Given the description of an element on the screen output the (x, y) to click on. 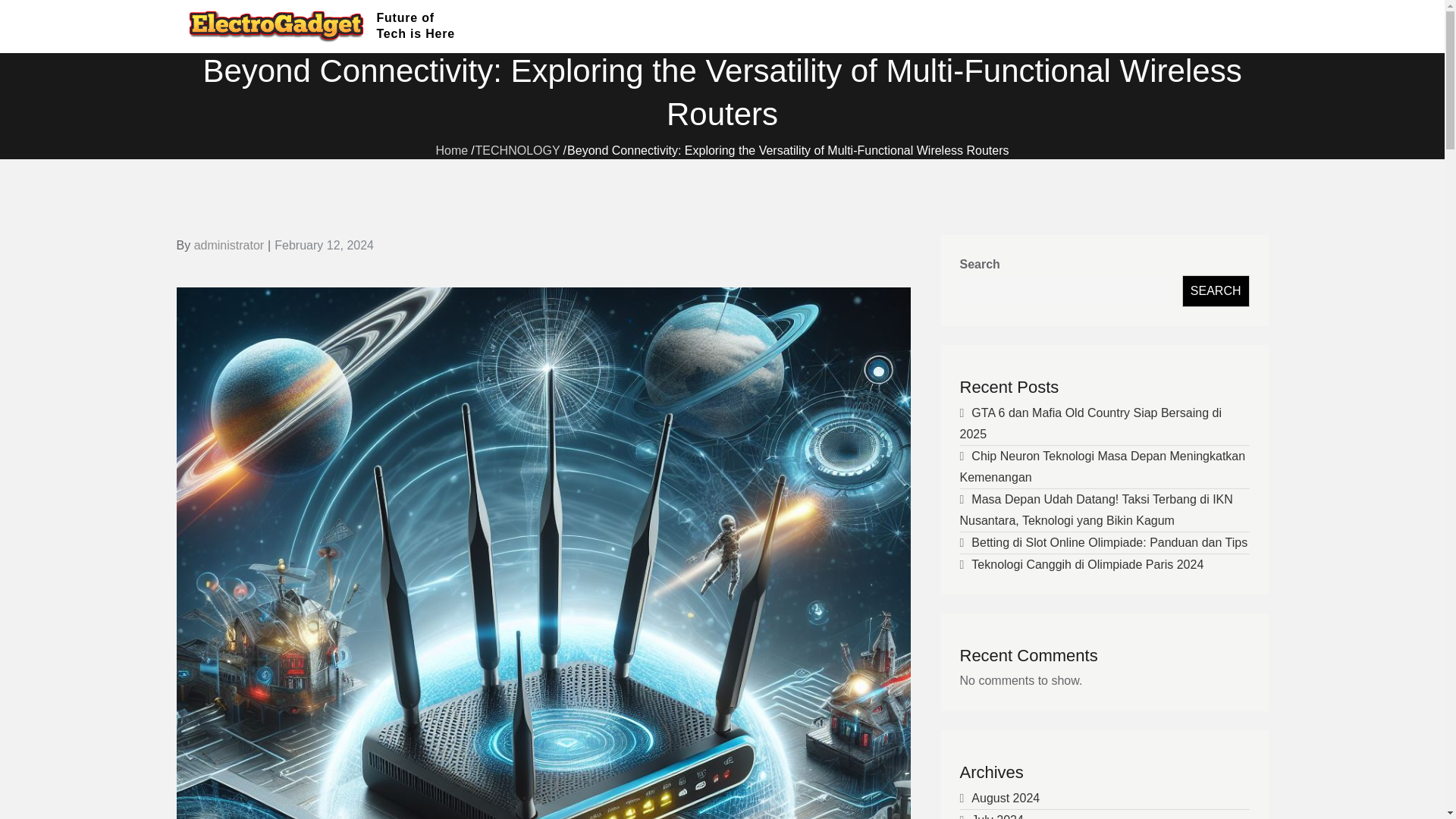
Betting di Slot Online Olimpiade: Panduan dan Tips (1109, 542)
Chip Neuron Teknologi Masa Depan Meningkatkan Kemenangan (1102, 466)
Home (451, 151)
July 2024 (997, 816)
GTA 6 dan Mafia Old Country Siap Bersaing di 2025 (1091, 423)
Teknologi Canggih di Olimpiade Paris 2024 (1087, 563)
TECHNOLOGY (518, 151)
administrator (228, 245)
SEARCH (1215, 291)
